Given the description of an element on the screen output the (x, y) to click on. 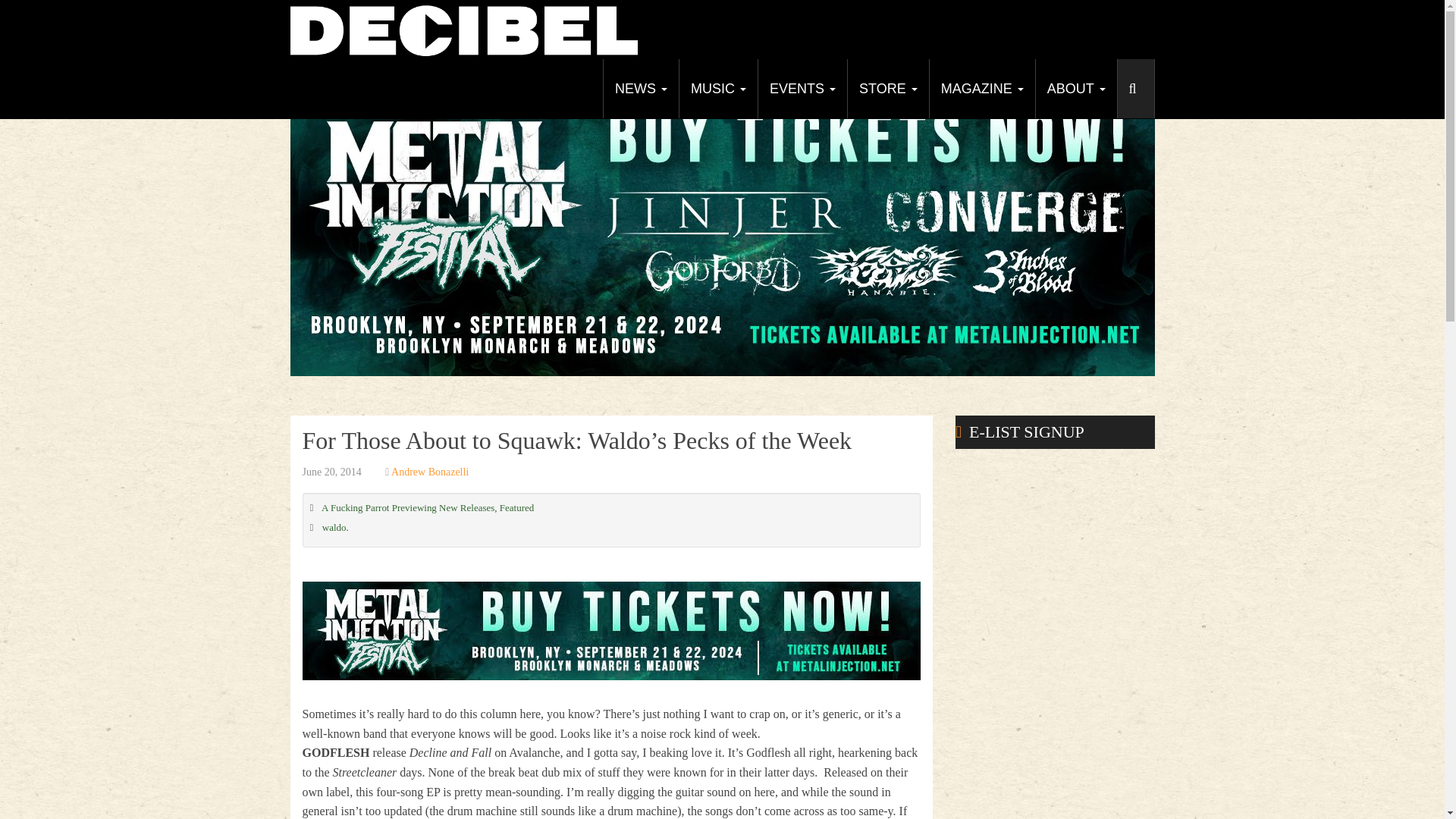
Soundcloud (1139, 73)
ABOUT (1075, 87)
EVENTS (802, 87)
Decibel Magazine (463, 28)
Events (802, 87)
News (640, 87)
Facebook (1027, 73)
Instagram (1111, 73)
MUSIC (717, 87)
MAGAZINE (981, 87)
